Given the description of an element on the screen output the (x, y) to click on. 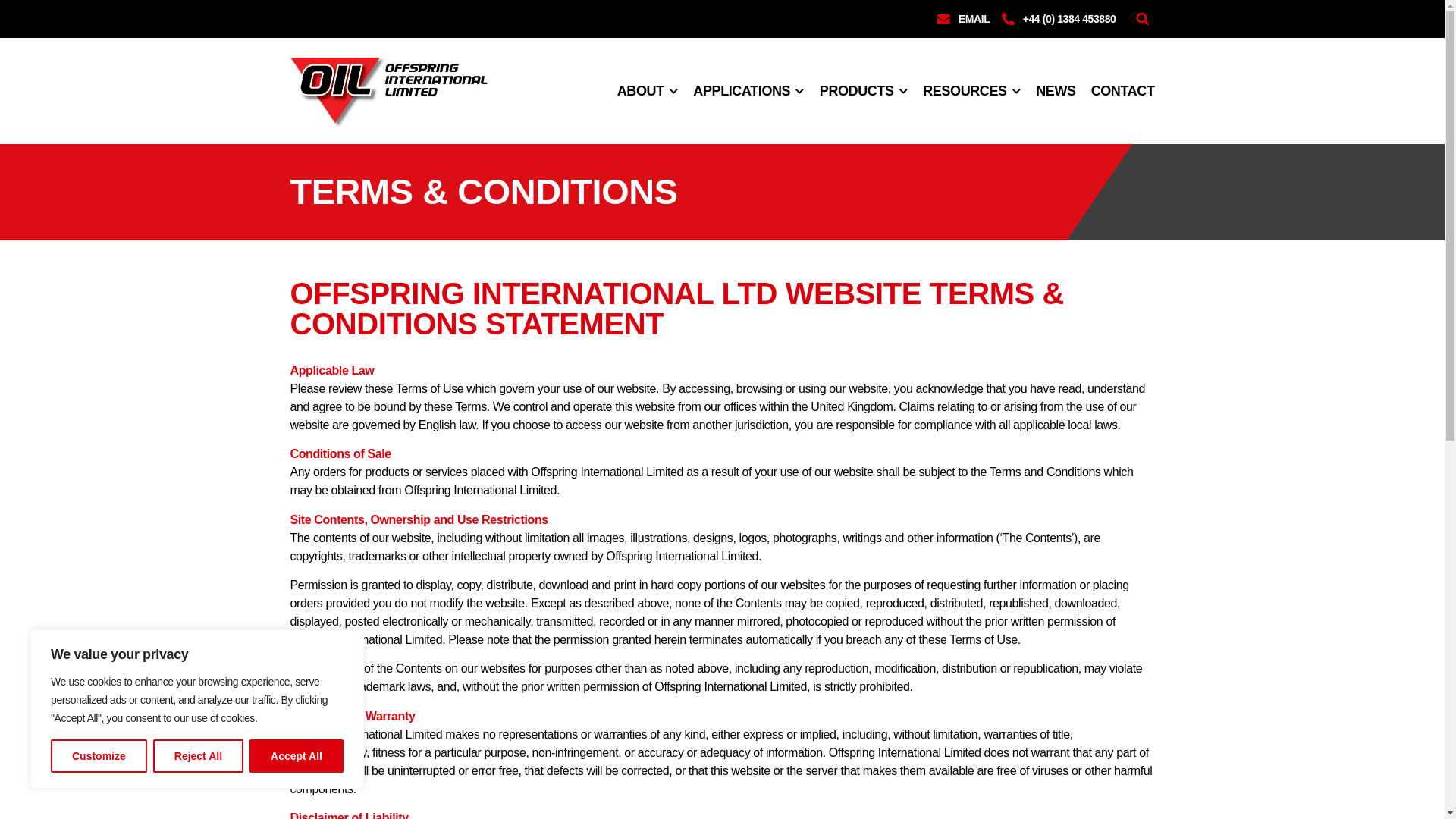
APPLICATIONS (748, 90)
Accept All (295, 756)
EMAIL (963, 18)
Reject All (197, 756)
ABOUT (647, 90)
Customize (98, 756)
PRODUCTS (863, 90)
